Given the description of an element on the screen output the (x, y) to click on. 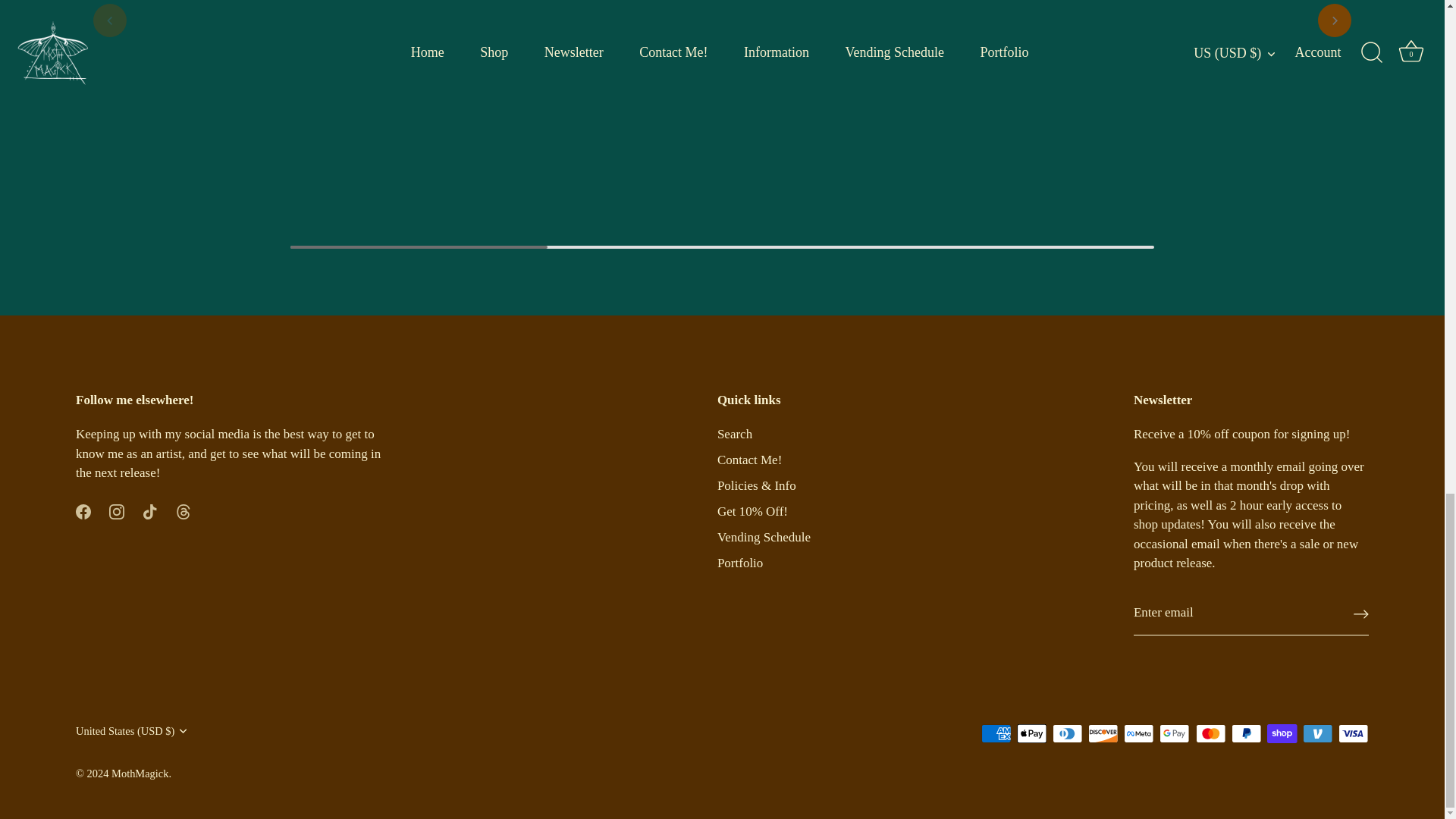
Meta Pay (1138, 732)
Right arrow long (1361, 613)
Apple Pay (1031, 732)
American Express (996, 732)
Shop Pay (1281, 732)
PayPal (1245, 732)
Mastercard (1210, 732)
Discover (1102, 732)
Diners Club (1067, 732)
Instagram (116, 511)
Google Pay (1173, 732)
